Given the description of an element on the screen output the (x, y) to click on. 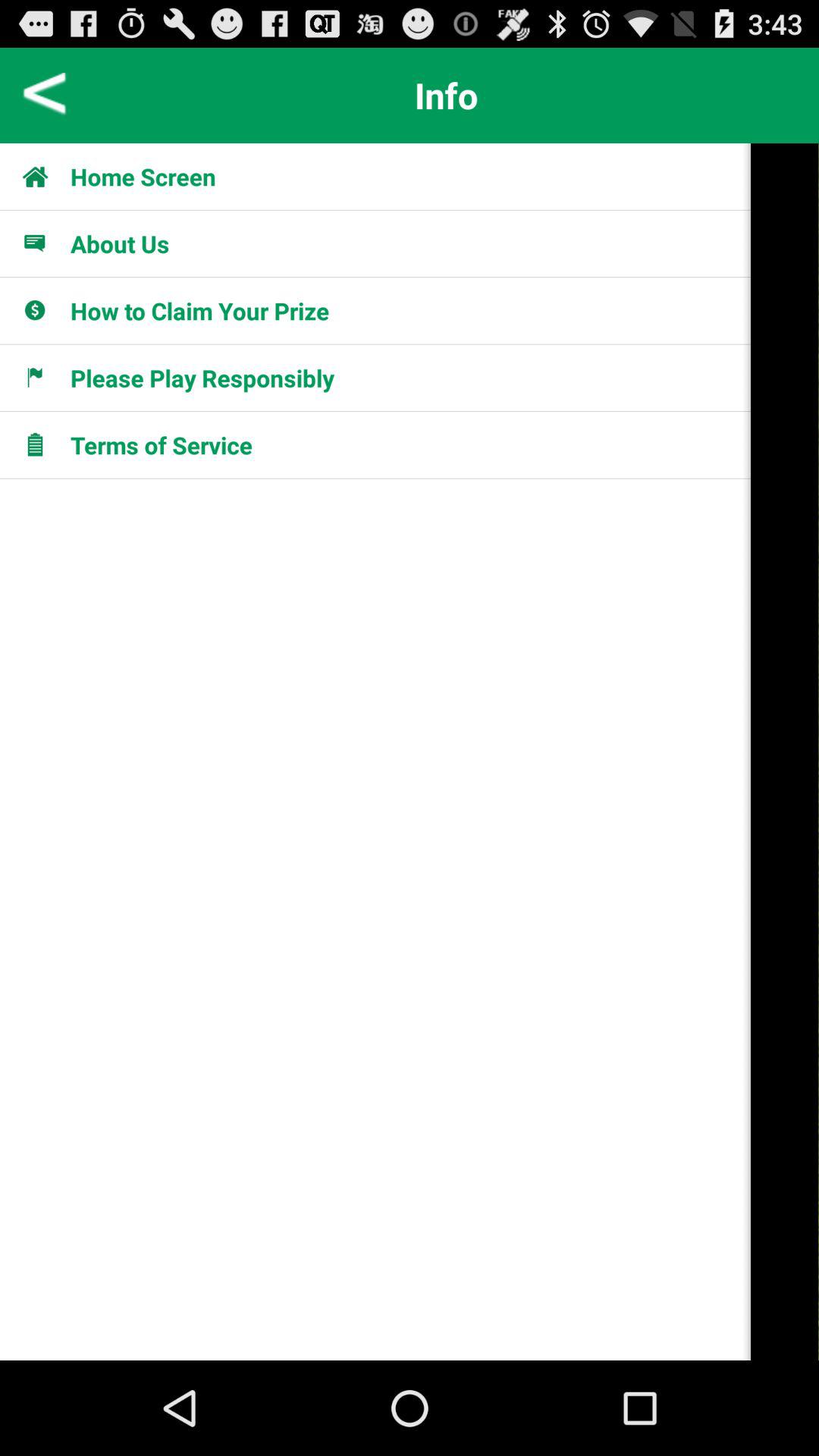
select icon above the terms of service app (43, 377)
